Given the description of an element on the screen output the (x, y) to click on. 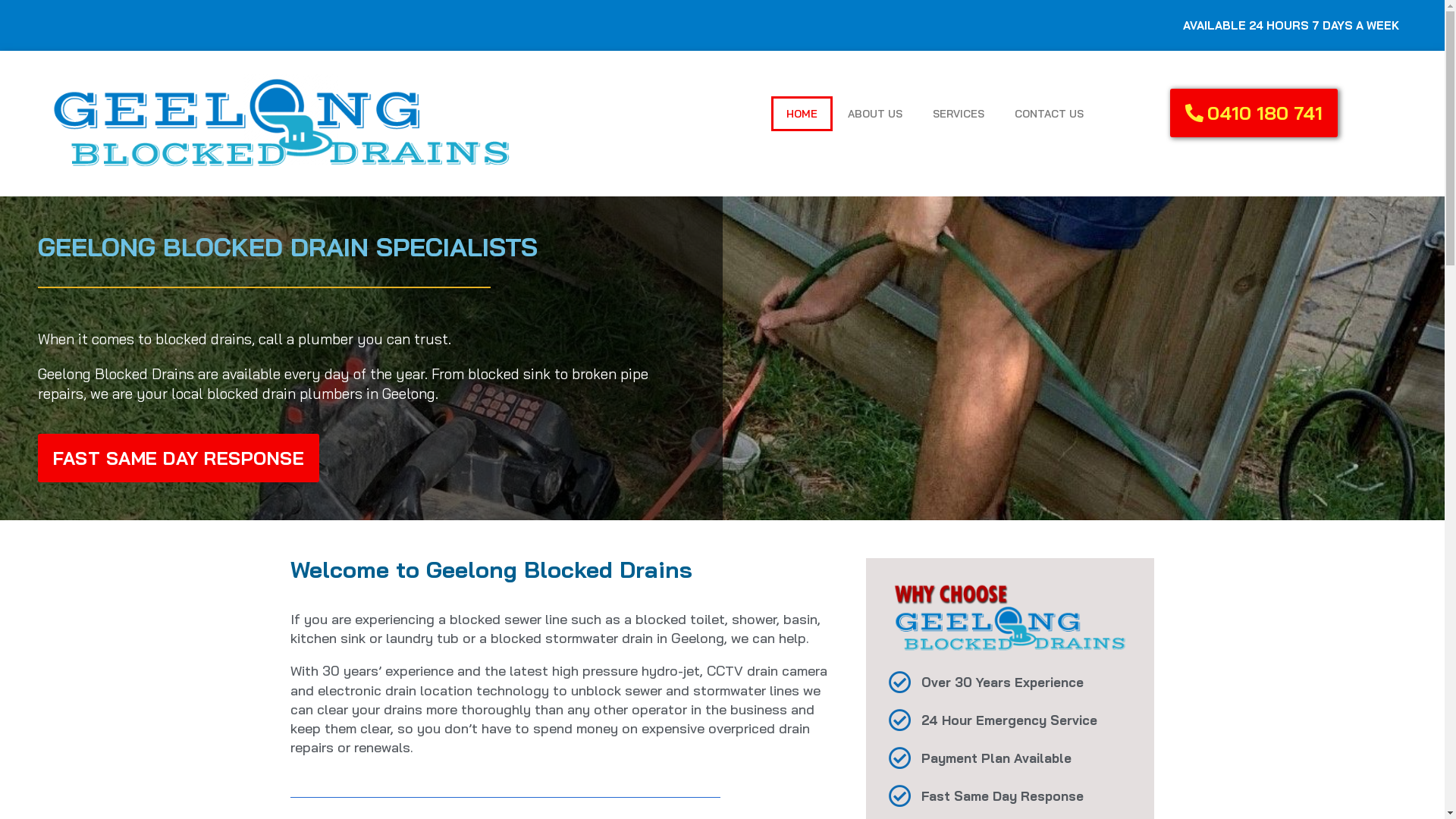
FAST SAME DAY RESPONSE Element type: text (178, 457)
ABOUT US Element type: text (874, 113)
HOME Element type: text (801, 113)
0410 180 741 Element type: text (1253, 112)
CONTACT US Element type: text (1048, 113)
SERVICES Element type: text (958, 113)
